Given the description of an element on the screen output the (x, y) to click on. 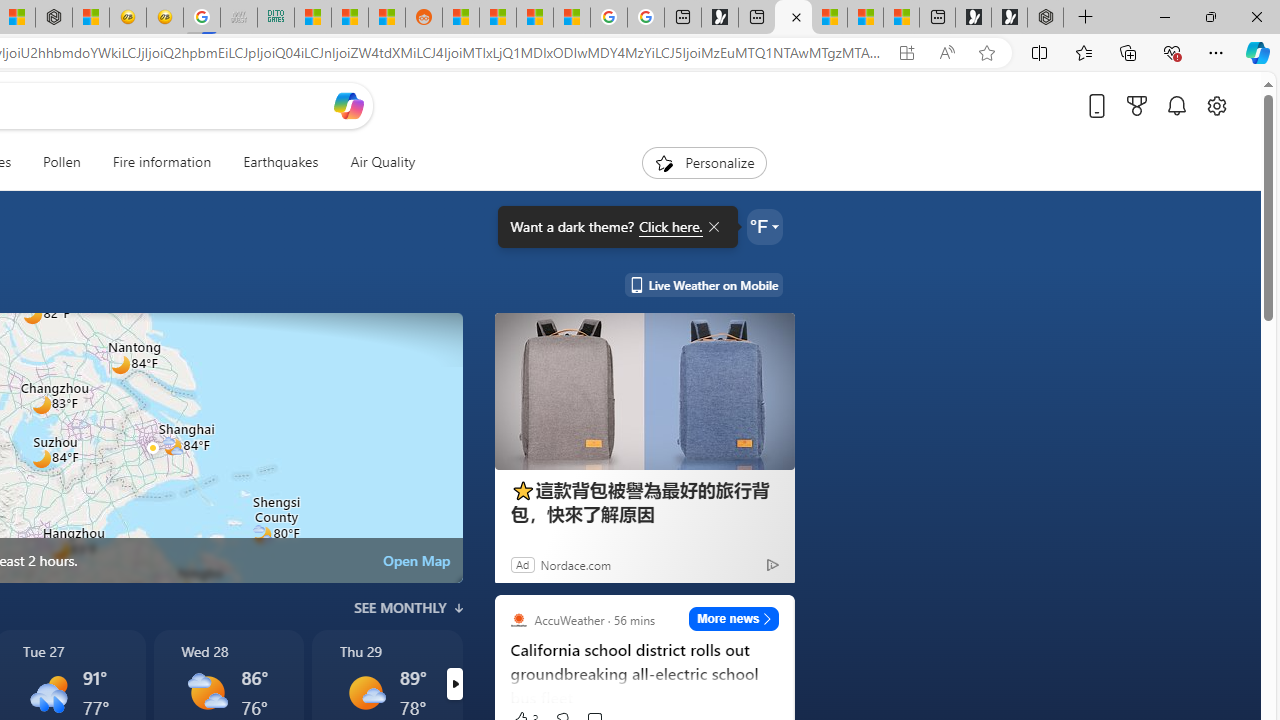
Earthquakes (280, 162)
These 3 Stocks Pay You More Than 5% to Own Them (901, 17)
Notifications (1176, 105)
Nordace - Nordace Siena Is Not An Ordinary Backpack (1045, 17)
MSN (386, 17)
Microsoft rewards (1137, 105)
Fire information (161, 162)
Switch right (454, 683)
To get missing image descriptions, open the context menu. (664, 162)
Pollen (61, 162)
